Given the description of an element on the screen output the (x, y) to click on. 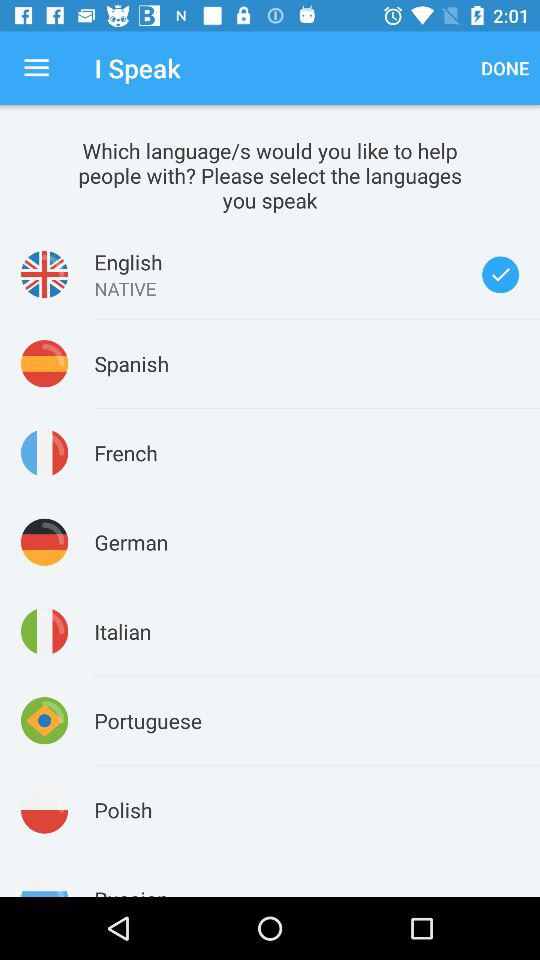
jump to done item (505, 67)
